Given the description of an element on the screen output the (x, y) to click on. 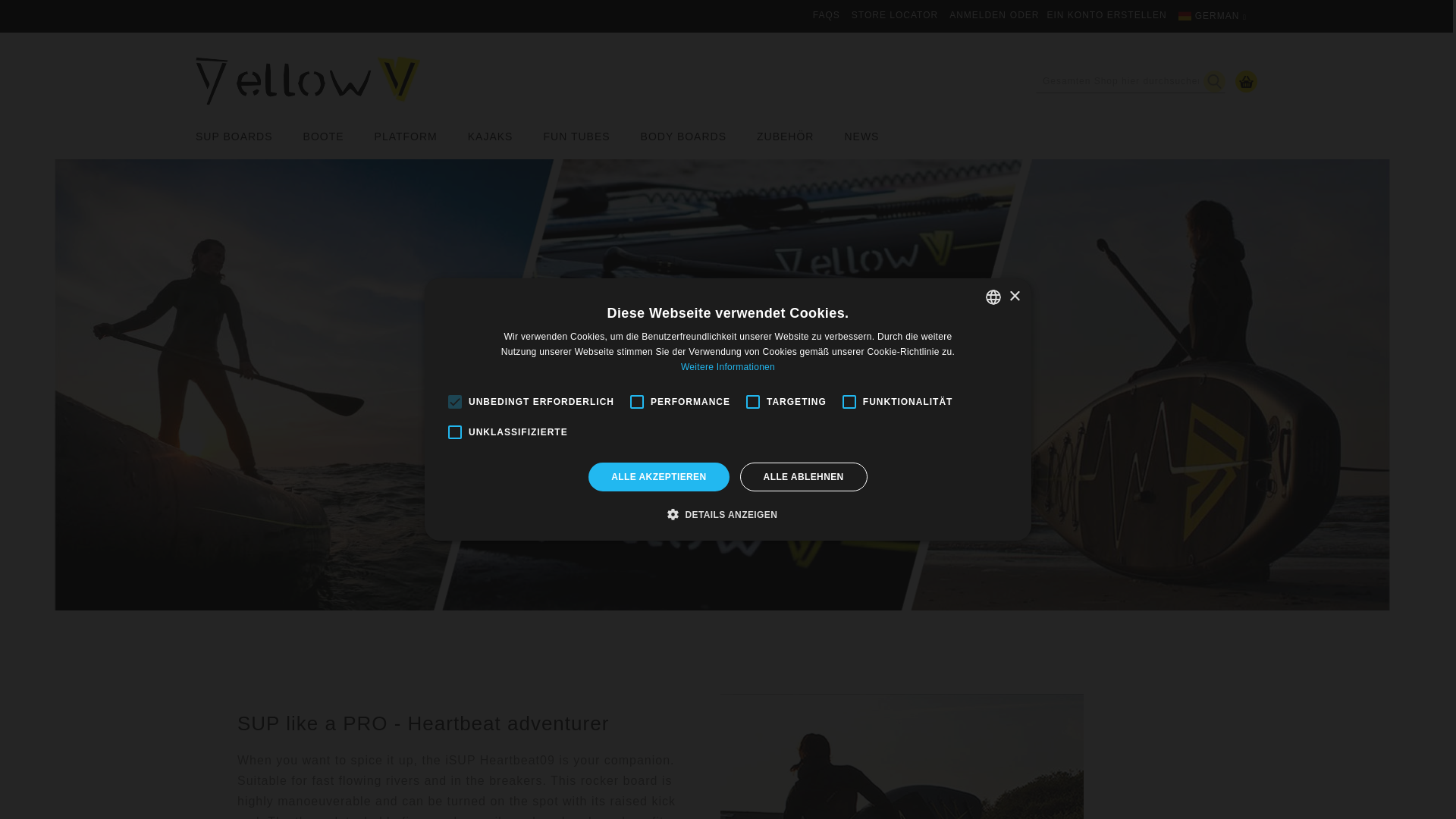
SUP BOARDS (241, 136)
FAQS (826, 15)
STORE LOCATOR (894, 15)
Switch Store (871, 432)
EIN KONTO ERSTELLEN (1106, 15)
MEIN WARENKORB (1245, 81)
Switch Store (871, 432)
BOOTE (323, 136)
ANMELDEN (977, 15)
